Given the description of an element on the screen output the (x, y) to click on. 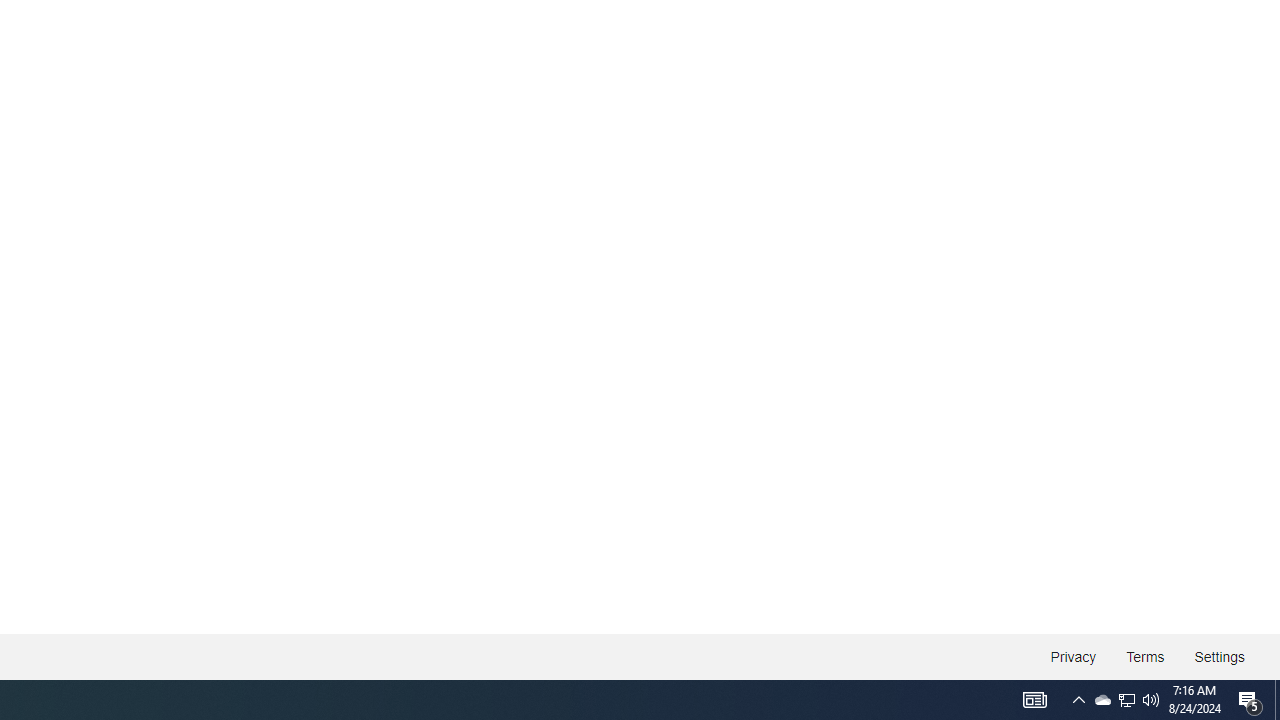
Settings (1218, 656)
Privacy (1073, 656)
Terms (1145, 656)
